Given the description of an element on the screen output the (x, y) to click on. 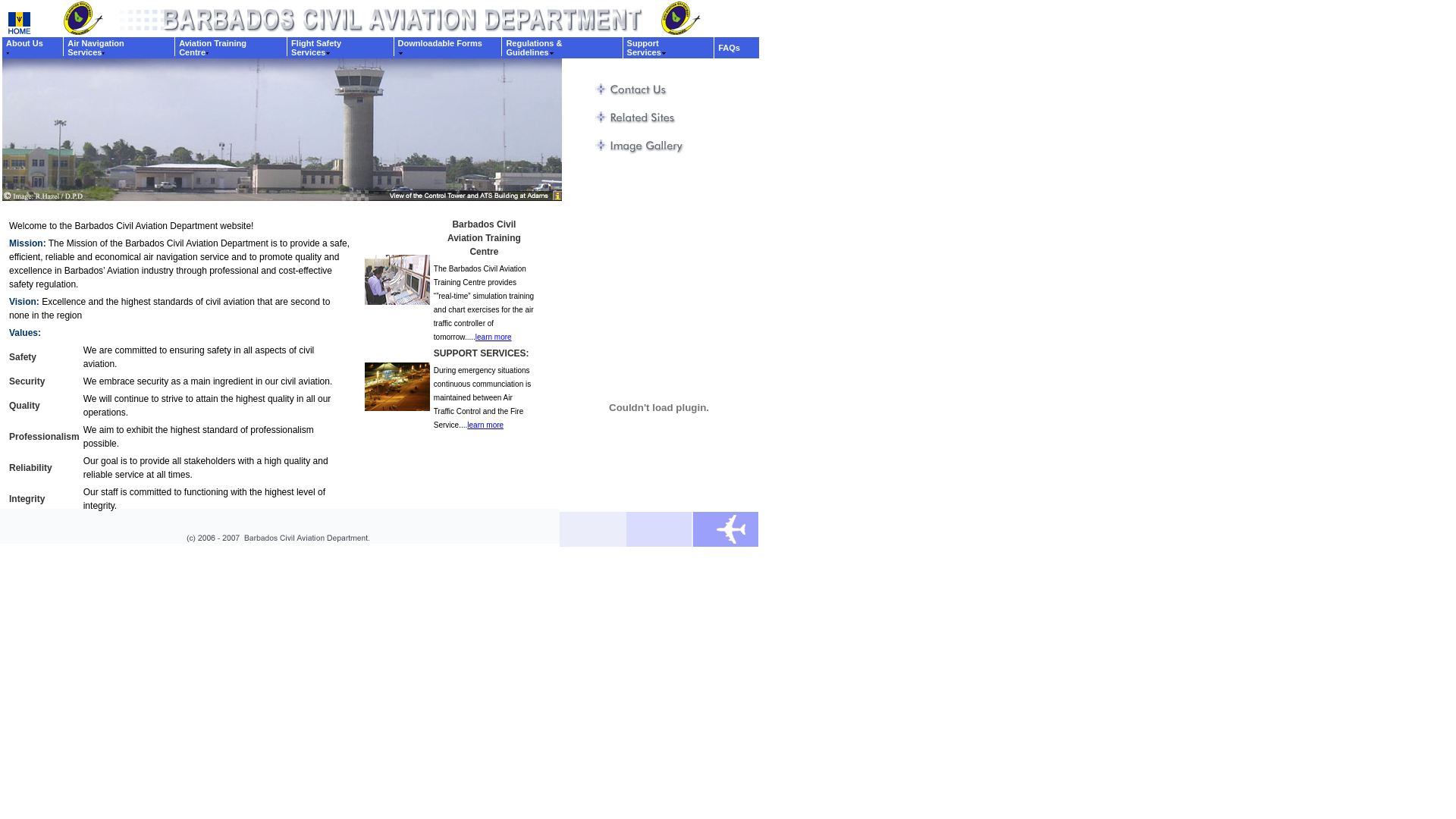
Aviation Training Centre Element type: text (212, 47)
learn more Element type: text (493, 336)
Support Services Element type: text (647, 47)
Air Navigation Services Element type: text (95, 47)
About Us Element type: text (24, 47)
Regulations & Guidelines Element type: text (533, 47)
learn more Element type: text (485, 424)
FAQs Element type: text (729, 47)
Flight Safety Services Element type: text (316, 47)
Downloadable Forms Element type: text (440, 47)
